Given the description of an element on the screen output the (x, y) to click on. 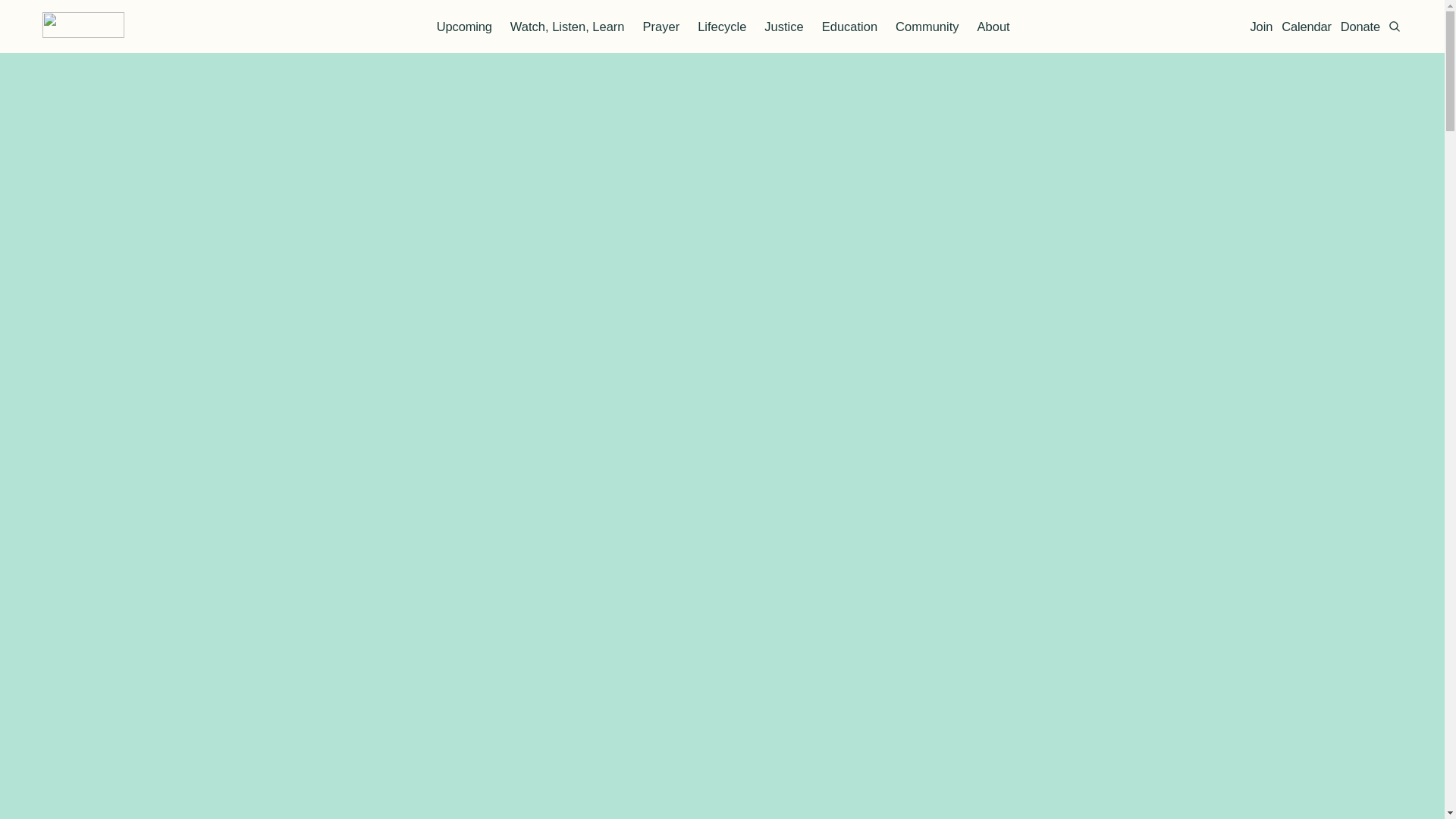
Lifecycle (721, 26)
Watch, Listen, Learn (567, 26)
Education (849, 26)
Upcoming (464, 26)
Justice (783, 26)
Prayer (661, 26)
